Given the description of an element on the screen output the (x, y) to click on. 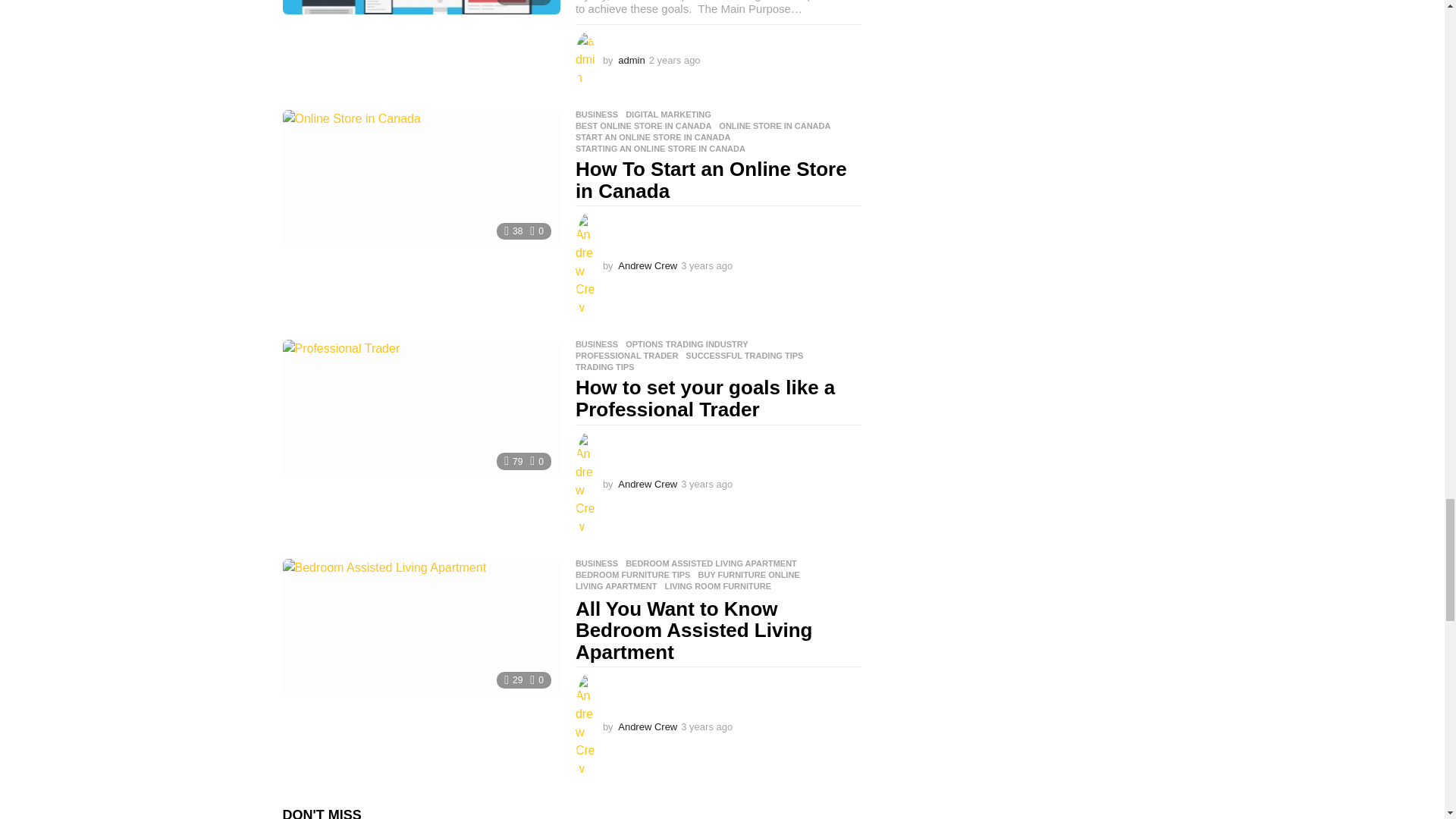
CRF Designing (420, 6)
How To Start an Online Store in Canada (420, 178)
All You Want to Know Bedroom Assisted Living Apartment (420, 627)
How to set your goals like a Professional Trader (420, 408)
